Given the description of an element on the screen output the (x, y) to click on. 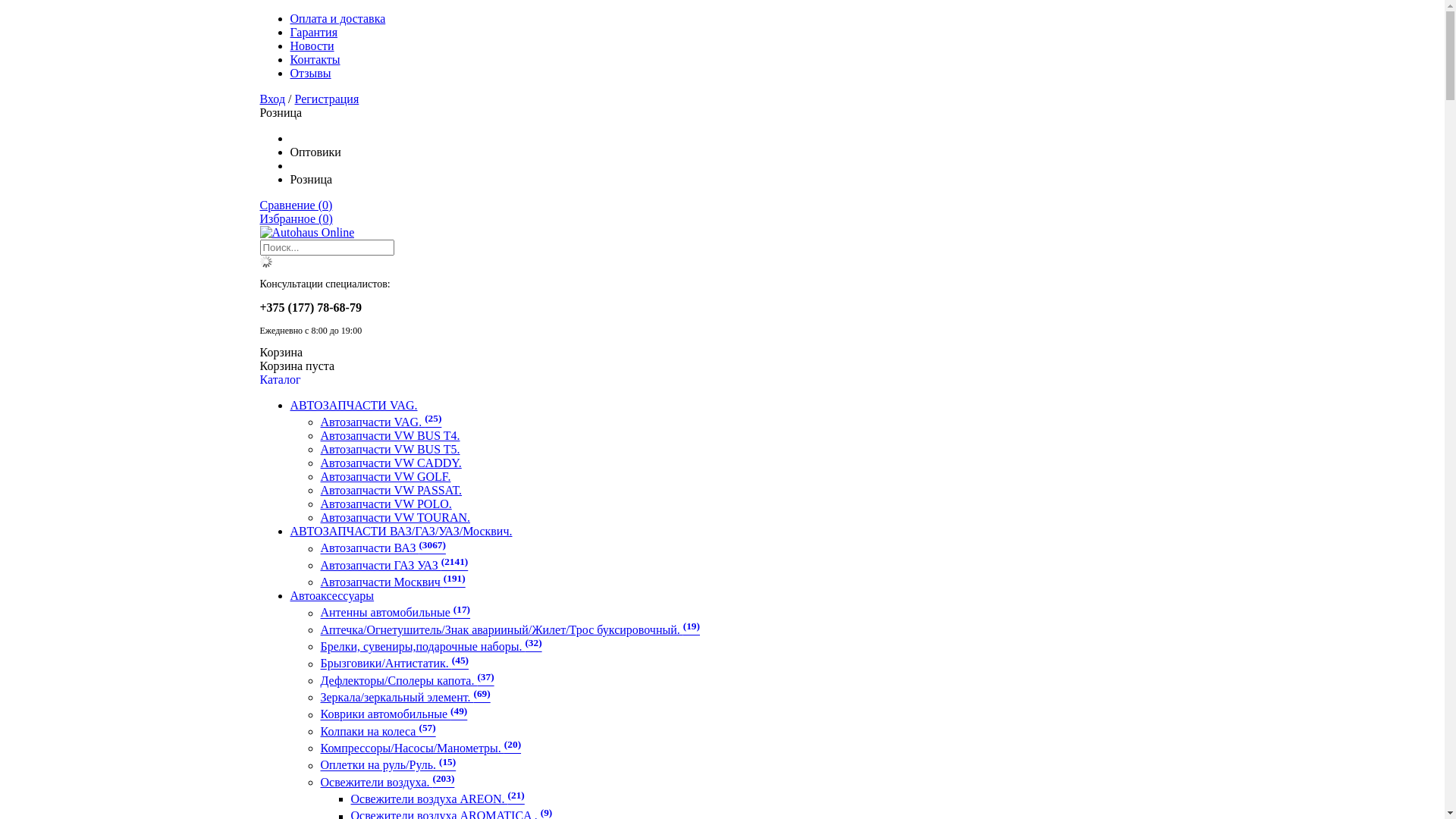
Autohaus Online Element type: hover (306, 232)
